Given the description of an element on the screen output the (x, y) to click on. 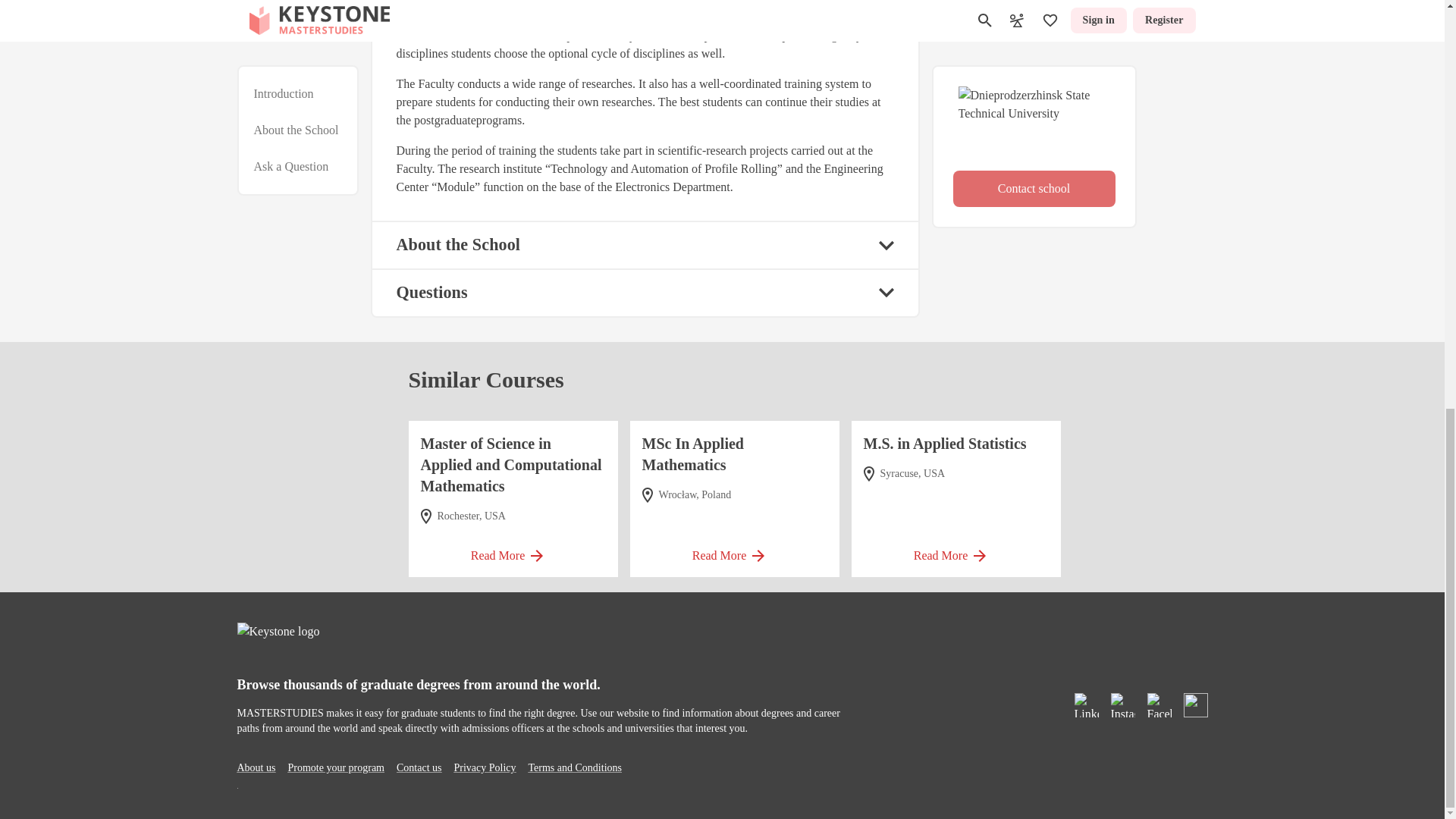
Read More (734, 550)
About us (255, 767)
Read More (955, 550)
Read More (512, 550)
